Given the description of an element on the screen output the (x, y) to click on. 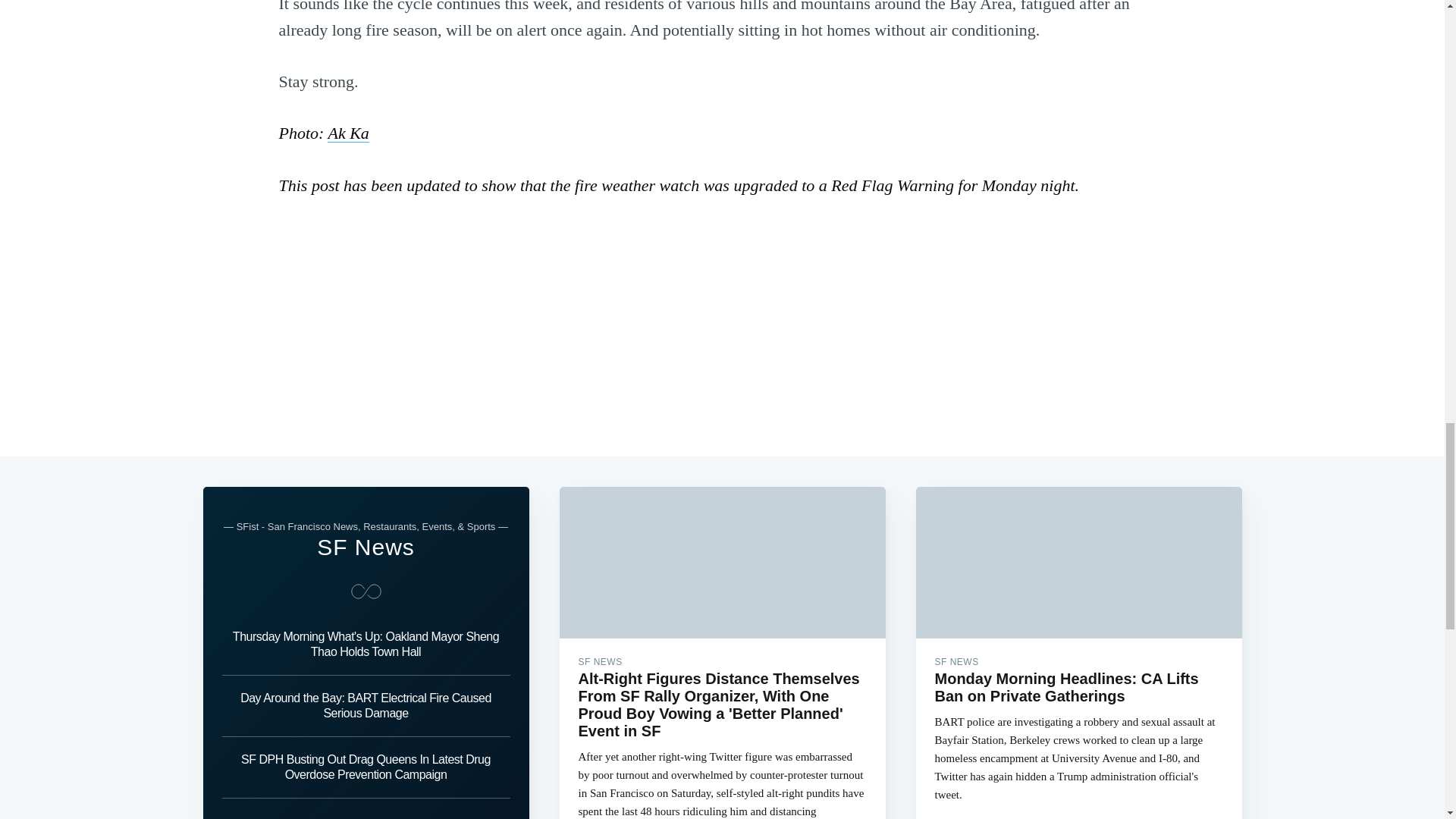
SF News (365, 546)
Ak Ka (347, 132)
